Given the description of an element on the screen output the (x, y) to click on. 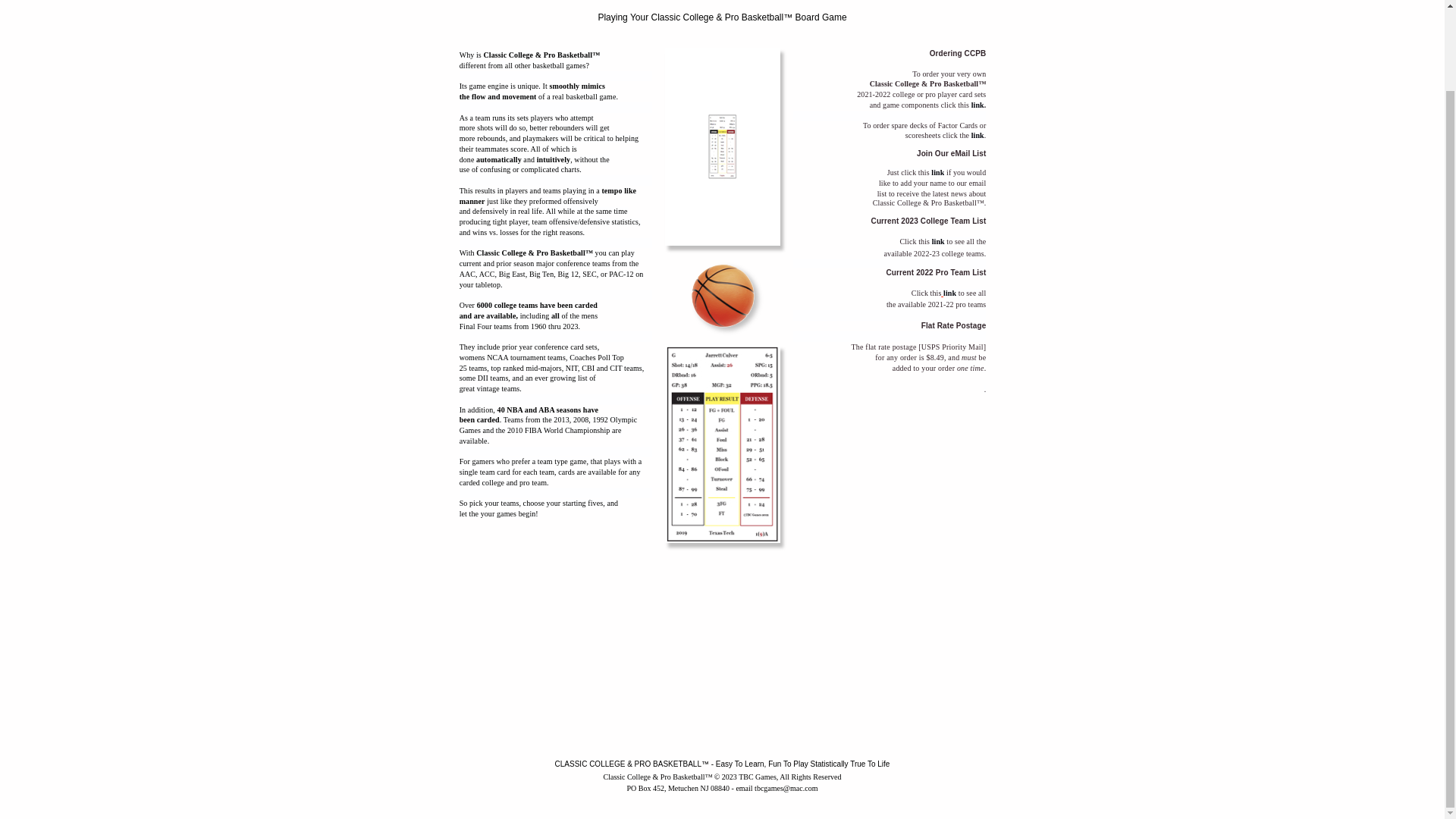
link (977, 135)
link (949, 292)
link (937, 241)
link (937, 172)
link (977, 104)
